Given the description of an element on the screen output the (x, y) to click on. 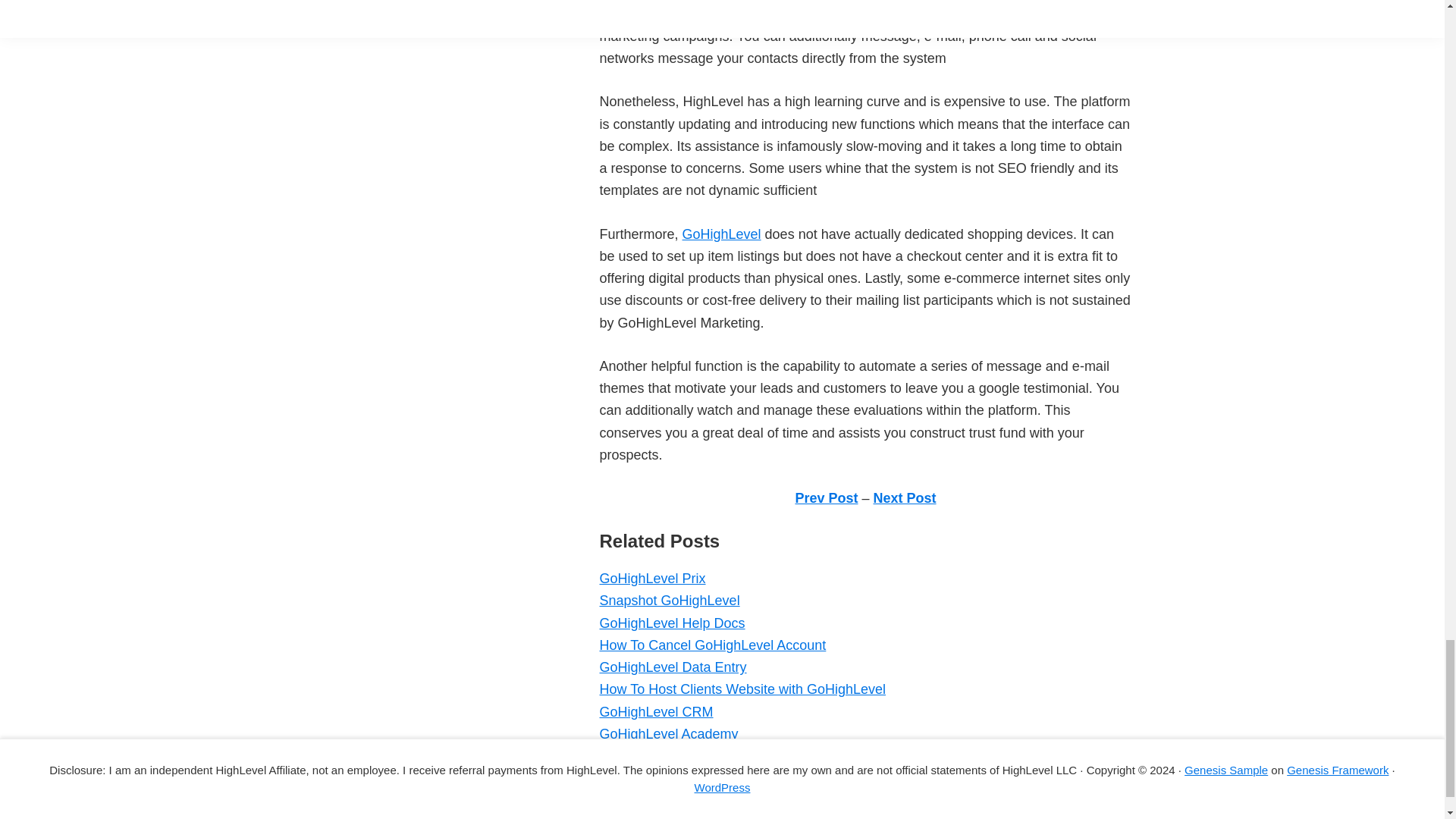
How To Cancel GoHighLevel Account (711, 645)
GoHighLevel Prix (651, 578)
Next Post (904, 498)
GoHighLevel HIPAA Cost (675, 777)
GoHighLevel Help Docs (671, 622)
GoHighLevel Prix (651, 578)
GoHighLevel Help Docs (671, 622)
GoHighLevel Academy (668, 734)
GoHighLevel Academy (668, 734)
Snapshot GoHighLevel (668, 600)
